Given the description of an element on the screen output the (x, y) to click on. 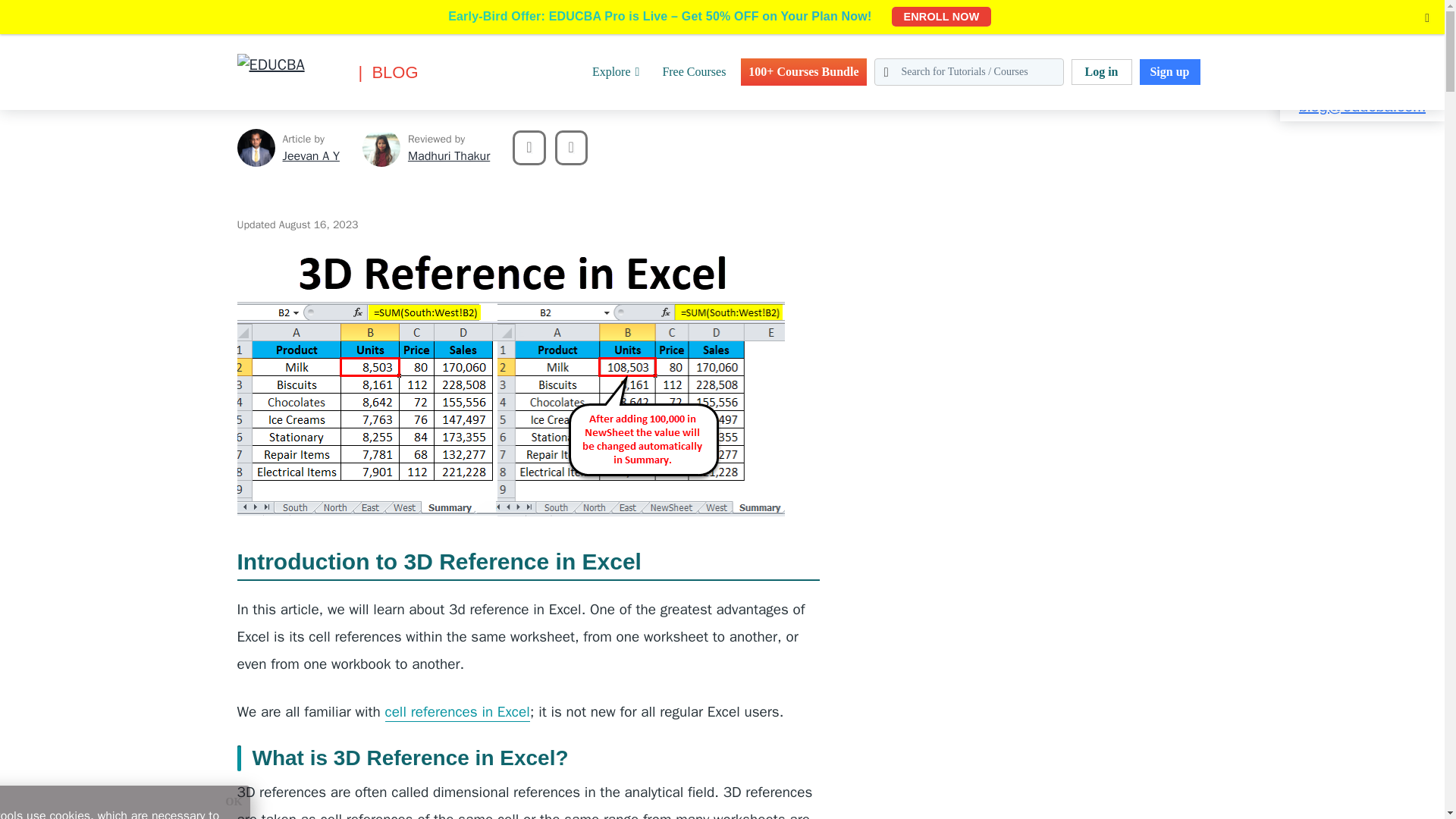
Jeevan A Y (310, 155)
Search (43, 19)
Explore (616, 72)
Excel (52, 9)
Previous (528, 147)
Excel Resources (117, 9)
cell references in Excel (457, 711)
EDUCBA (259, 96)
Next (571, 147)
Log in (1100, 71)
